Given the description of an element on the screen output the (x, y) to click on. 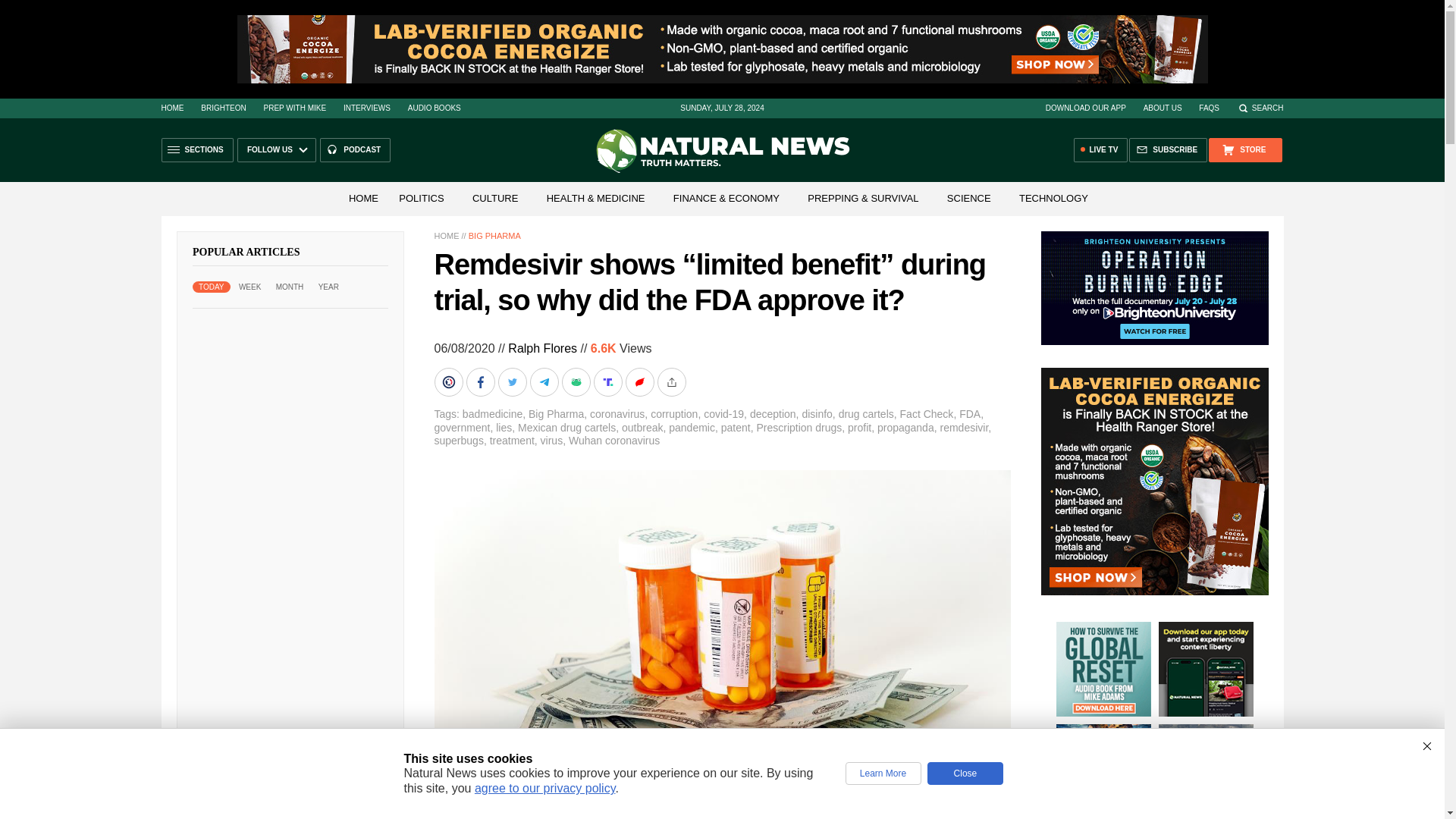
PODCAST (355, 150)
Share on Twitter (513, 381)
ABOUT US (1162, 108)
SEARCH (1260, 108)
Share on Gettr (640, 381)
Share on Telegram (544, 381)
CULTURE (495, 197)
Search (1260, 108)
BRIGHTEON (223, 108)
SCIENCE (968, 197)
DOWNLOAD OUR APP (1085, 108)
POLITICS (421, 197)
Share on Brighteon.Social (449, 381)
PREP WITH MIKE (294, 108)
Share on Facebook (481, 381)
